Given the description of an element on the screen output the (x, y) to click on. 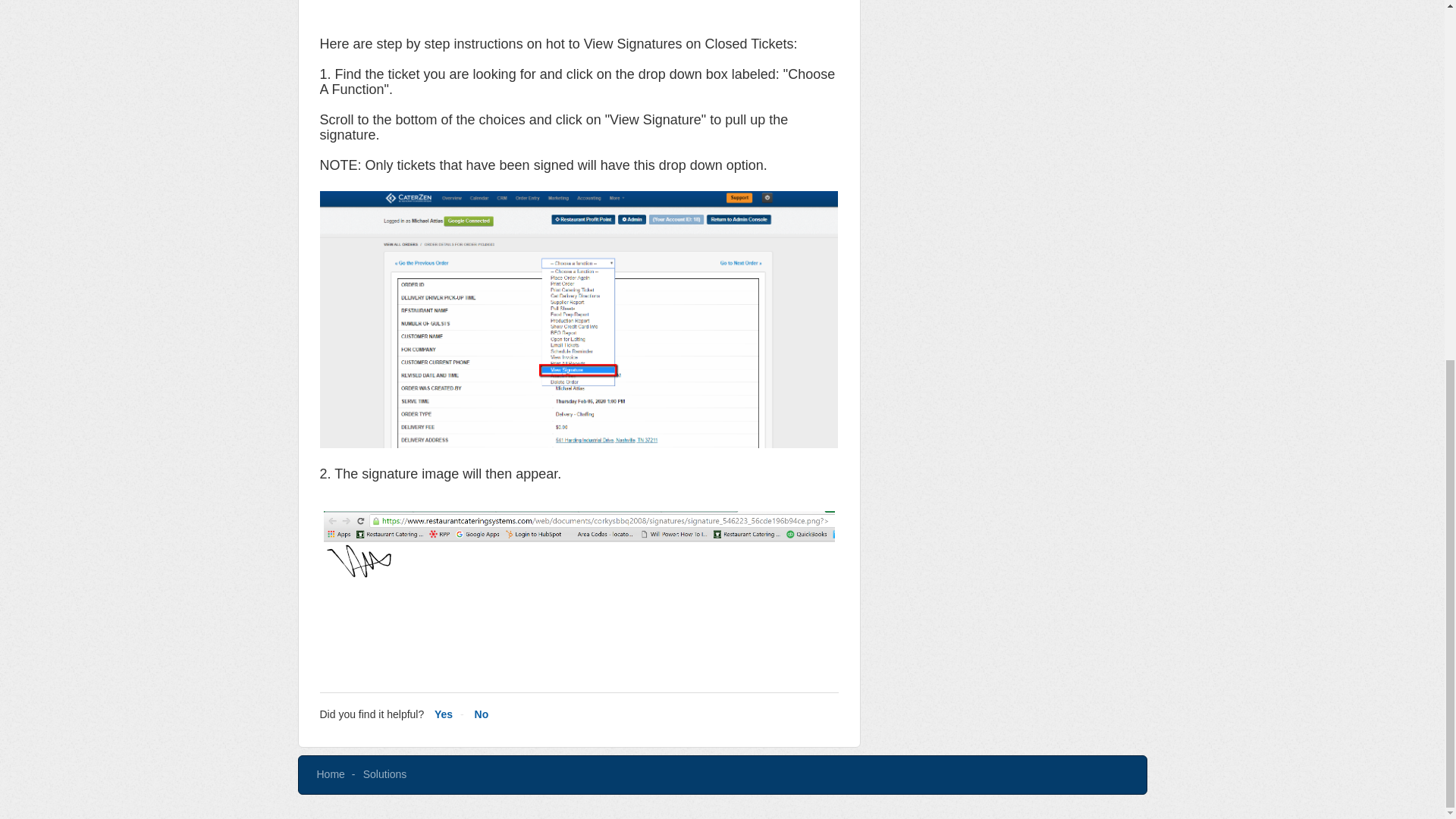
Solutions (384, 774)
Home (331, 774)
